Given the description of an element on the screen output the (x, y) to click on. 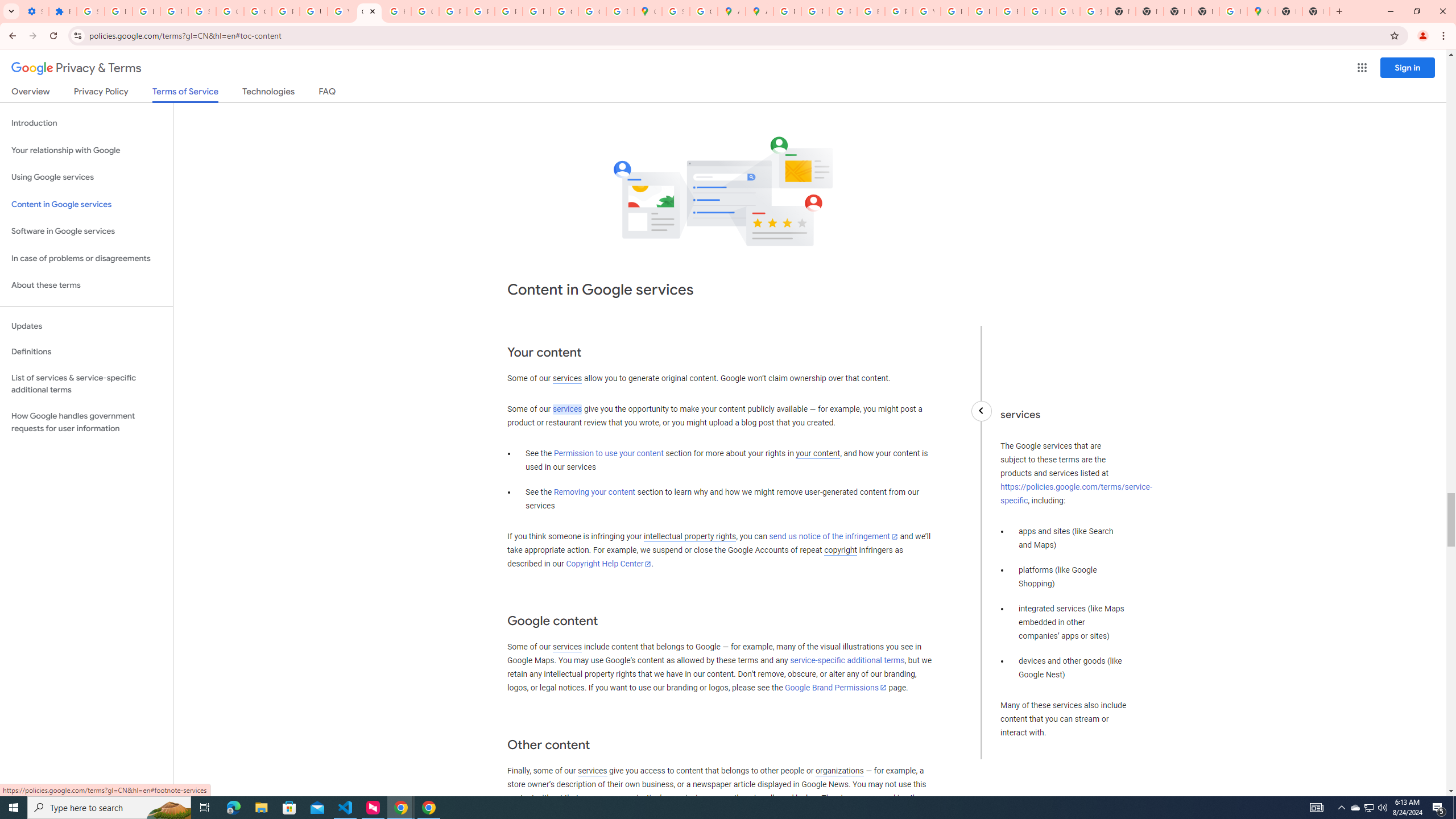
Content in Google services (86, 204)
intellectual property rights (689, 536)
Permission to use your content (608, 453)
Privacy Policy (100, 93)
Settings - On startup (34, 11)
https://policies.google.com/terms/service-specific (1075, 494)
How Google handles government requests for user information (86, 422)
Updates (86, 325)
Google Account Help (229, 11)
